Given the description of an element on the screen output the (x, y) to click on. 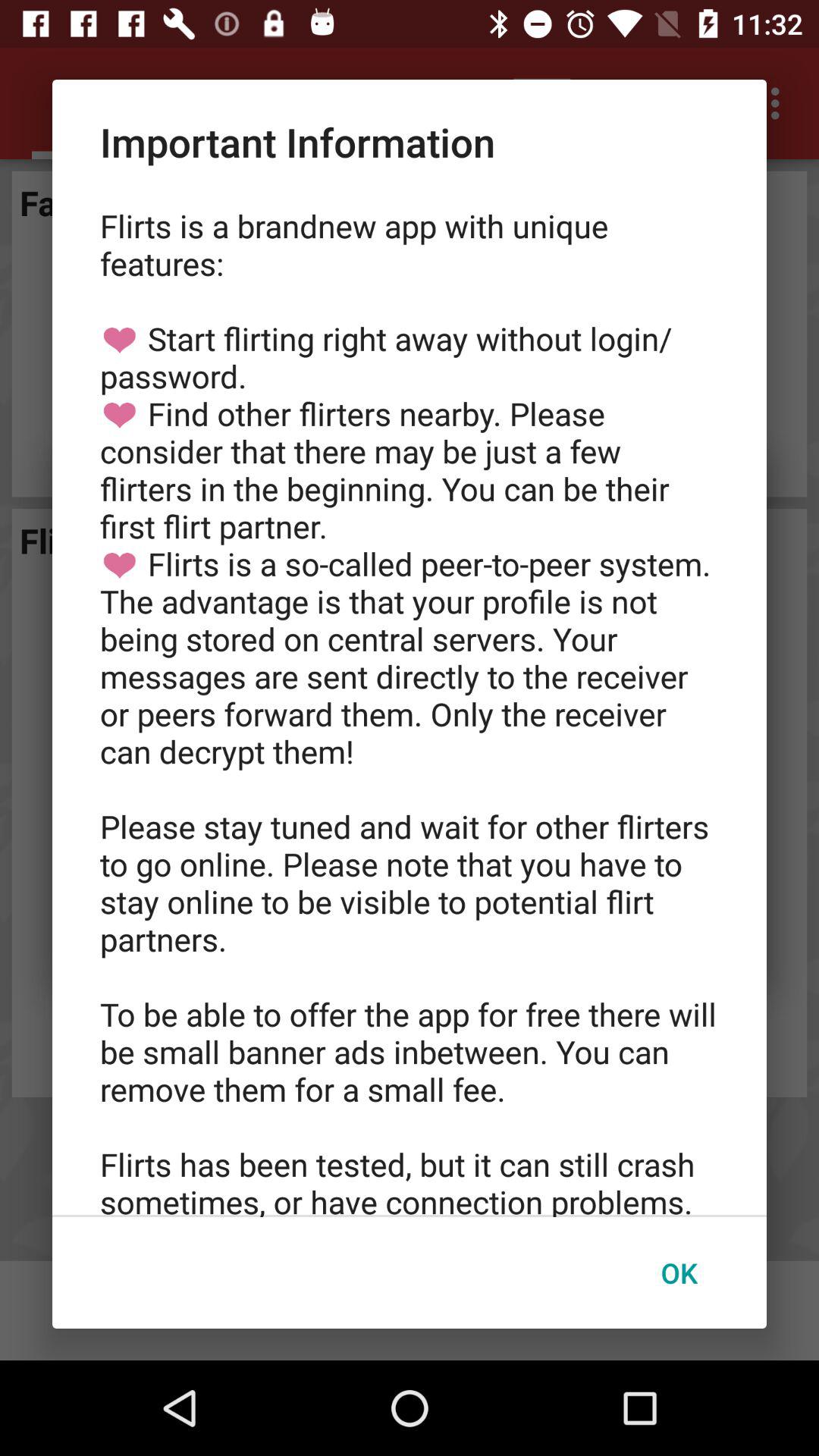
click the icon at the bottom right corner (678, 1272)
